Given the description of an element on the screen output the (x, y) to click on. 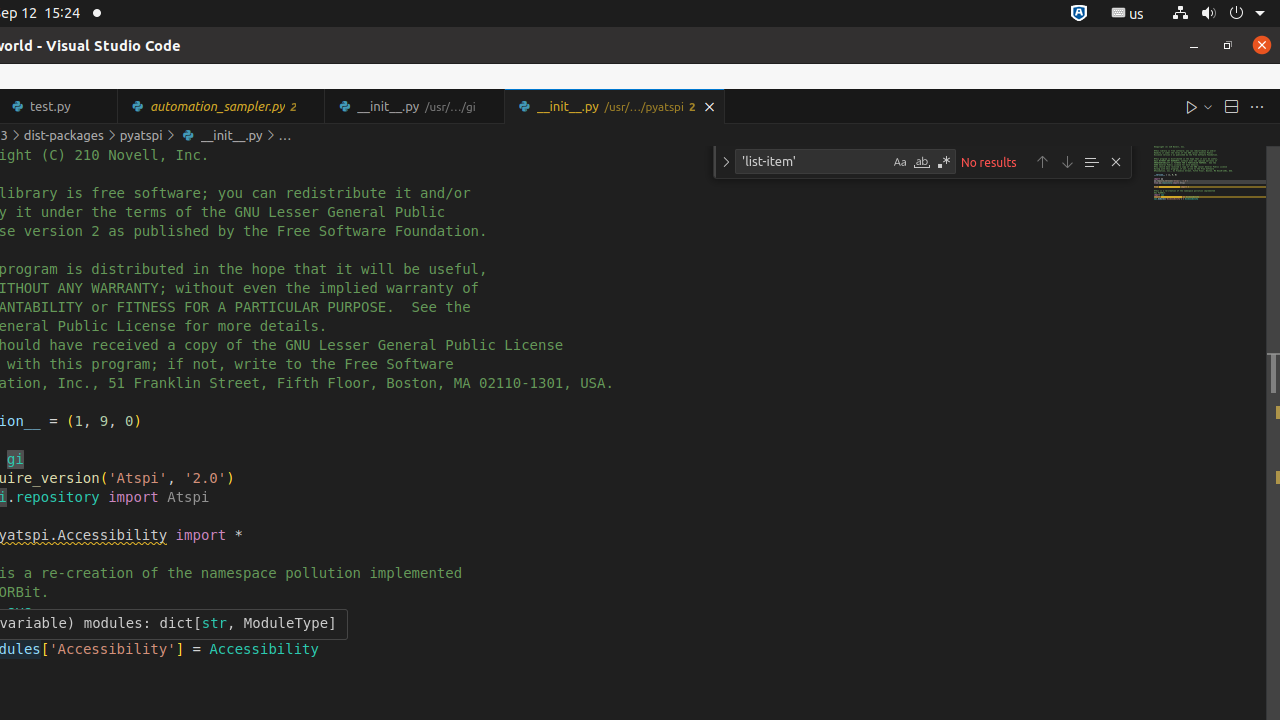
Match Whole Word (Alt+W) Element type: check-box (922, 162)
Close (Ctrl+W) Element type: push-button (709, 106)
__init__.py Element type: page-tab (614, 106)
Find in Selection (Alt+L) Element type: check-box (1091, 161)
